Given the description of an element on the screen output the (x, y) to click on. 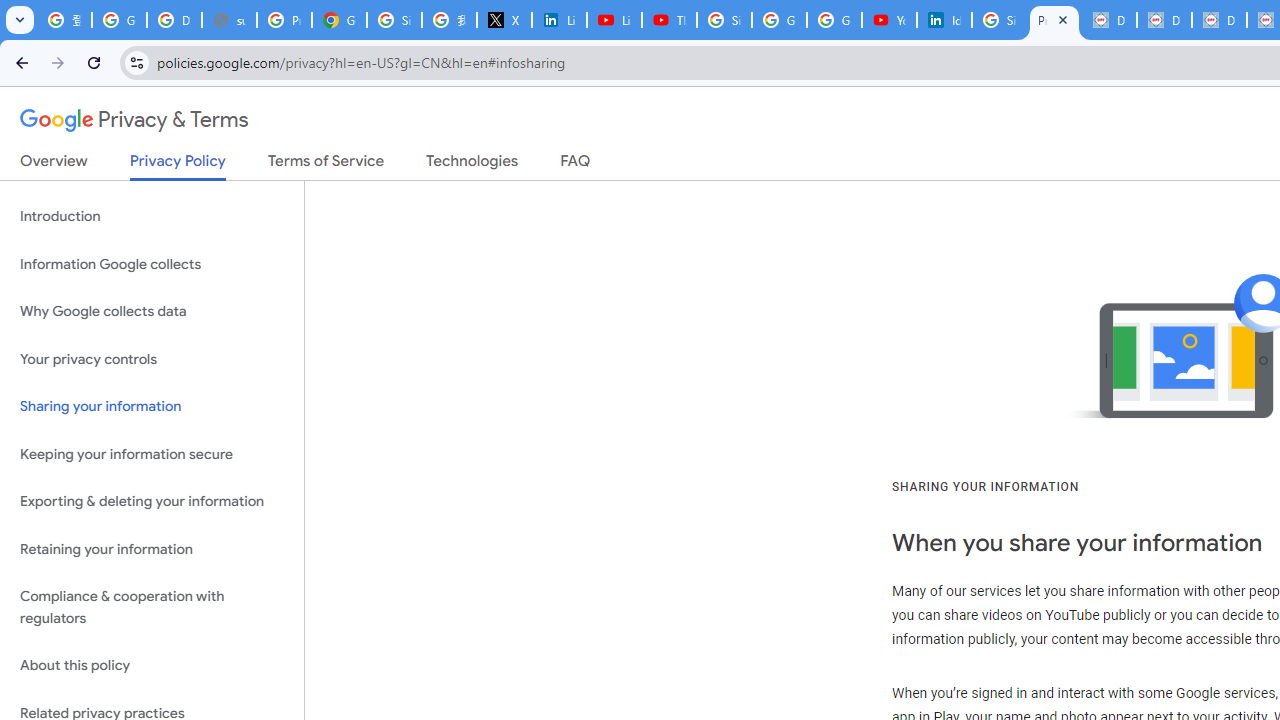
LinkedIn Privacy Policy (559, 20)
X (504, 20)
Privacy Help Center - Policies Help (284, 20)
